Given the description of an element on the screen output the (x, y) to click on. 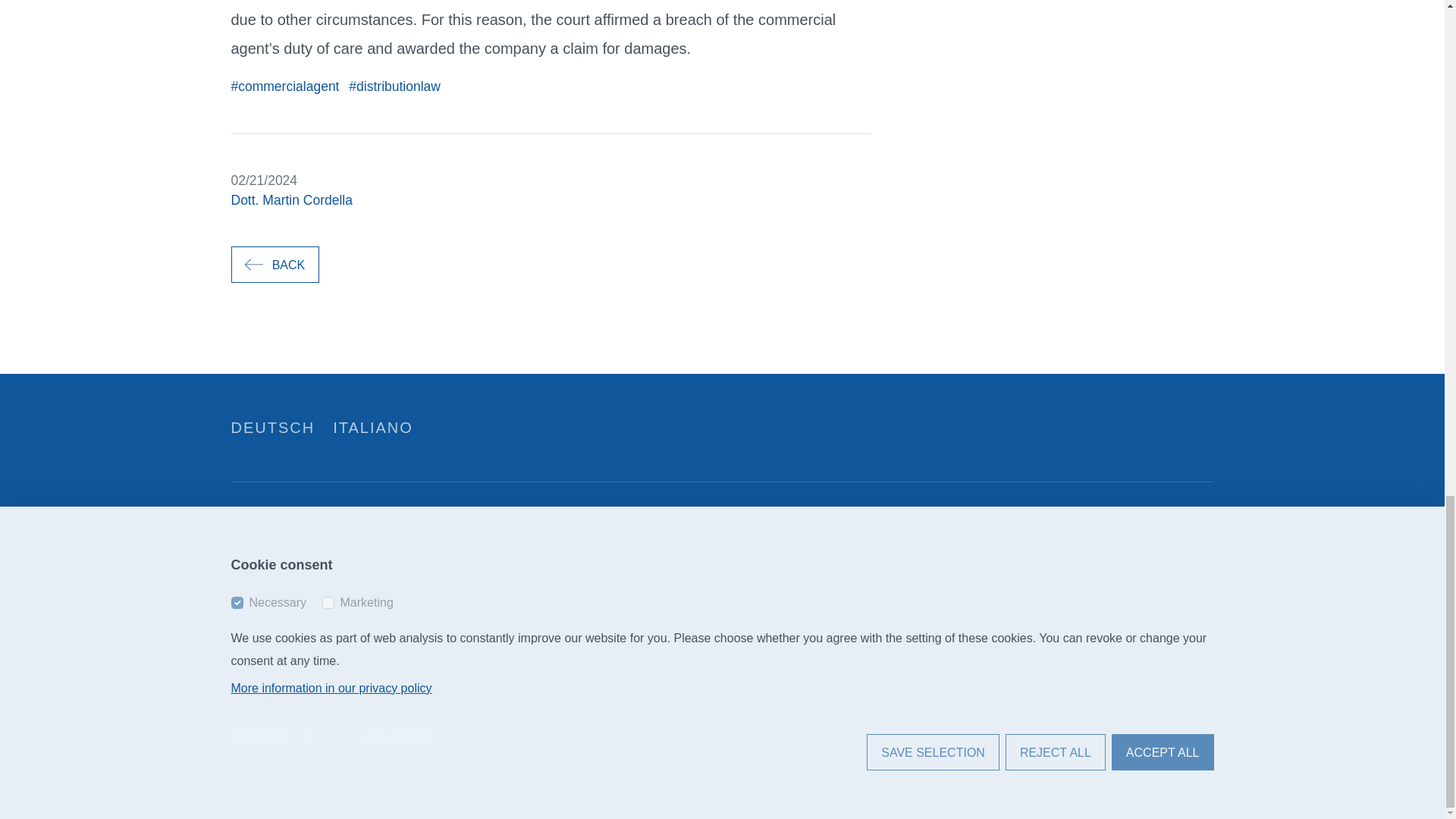
CAREER (519, 541)
REQUEST CONSULTATION (341, 541)
BACK (274, 264)
LINKEDIN (627, 541)
IMPRINT (734, 541)
distributionlaw (395, 86)
ITALIANO (373, 427)
Dott. Martin Cordella (291, 200)
DEUTSCH (272, 427)
PRIVACY (838, 541)
